Given the description of an element on the screen output the (x, y) to click on. 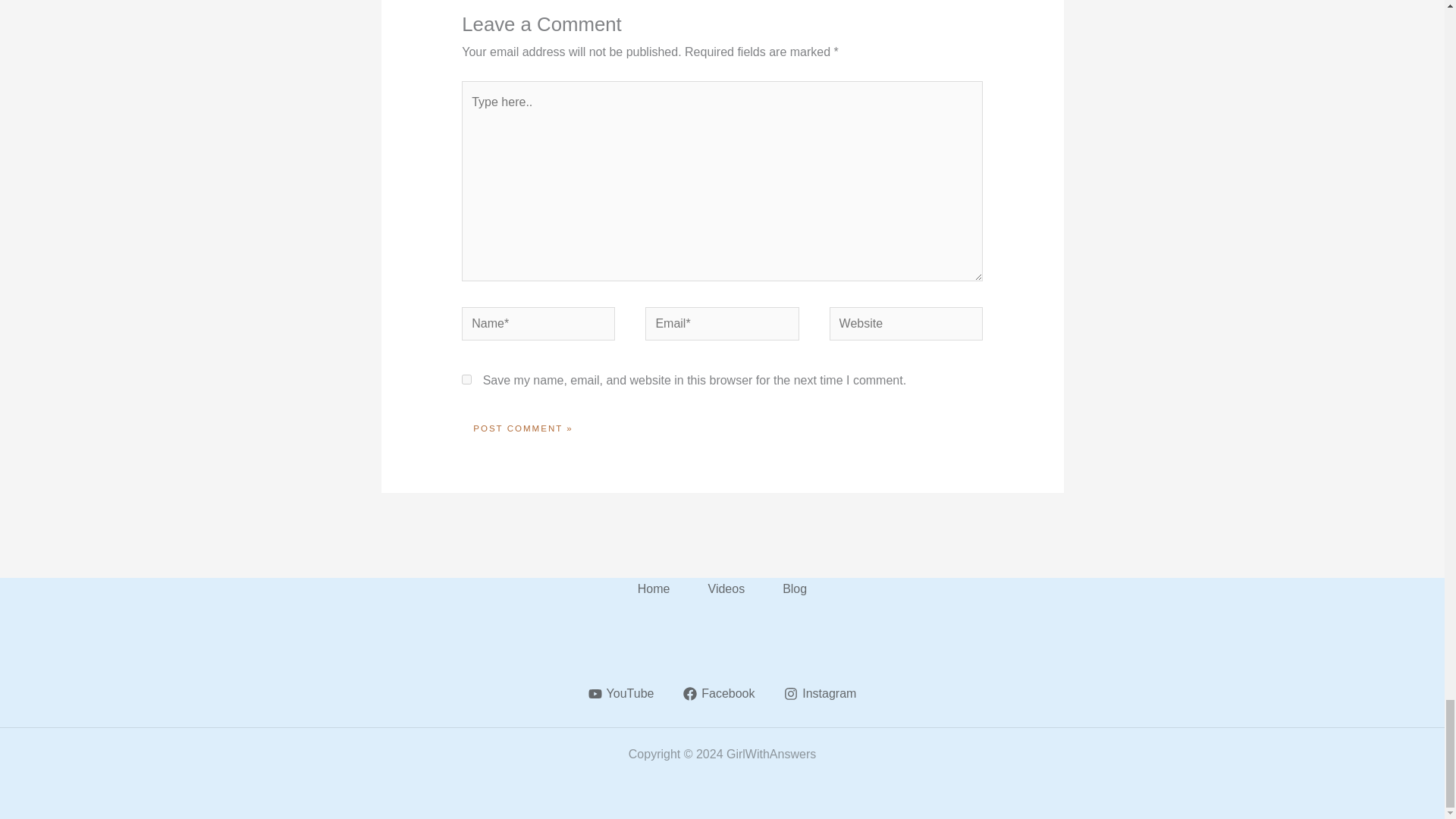
yes (466, 379)
